Given the description of an element on the screen output the (x, y) to click on. 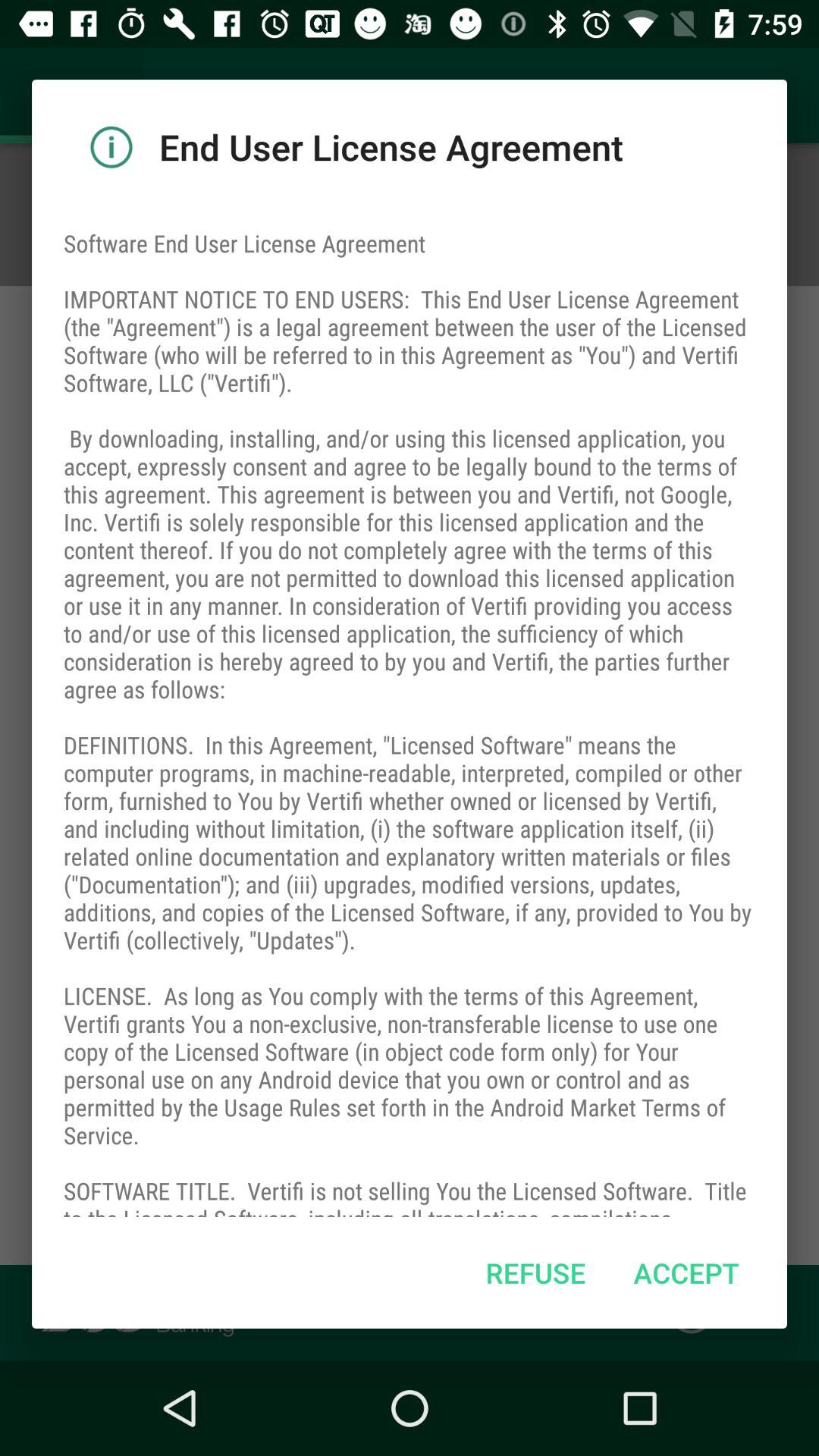
tap the item to the right of the refuse item (686, 1272)
